Given the description of an element on the screen output the (x, y) to click on. 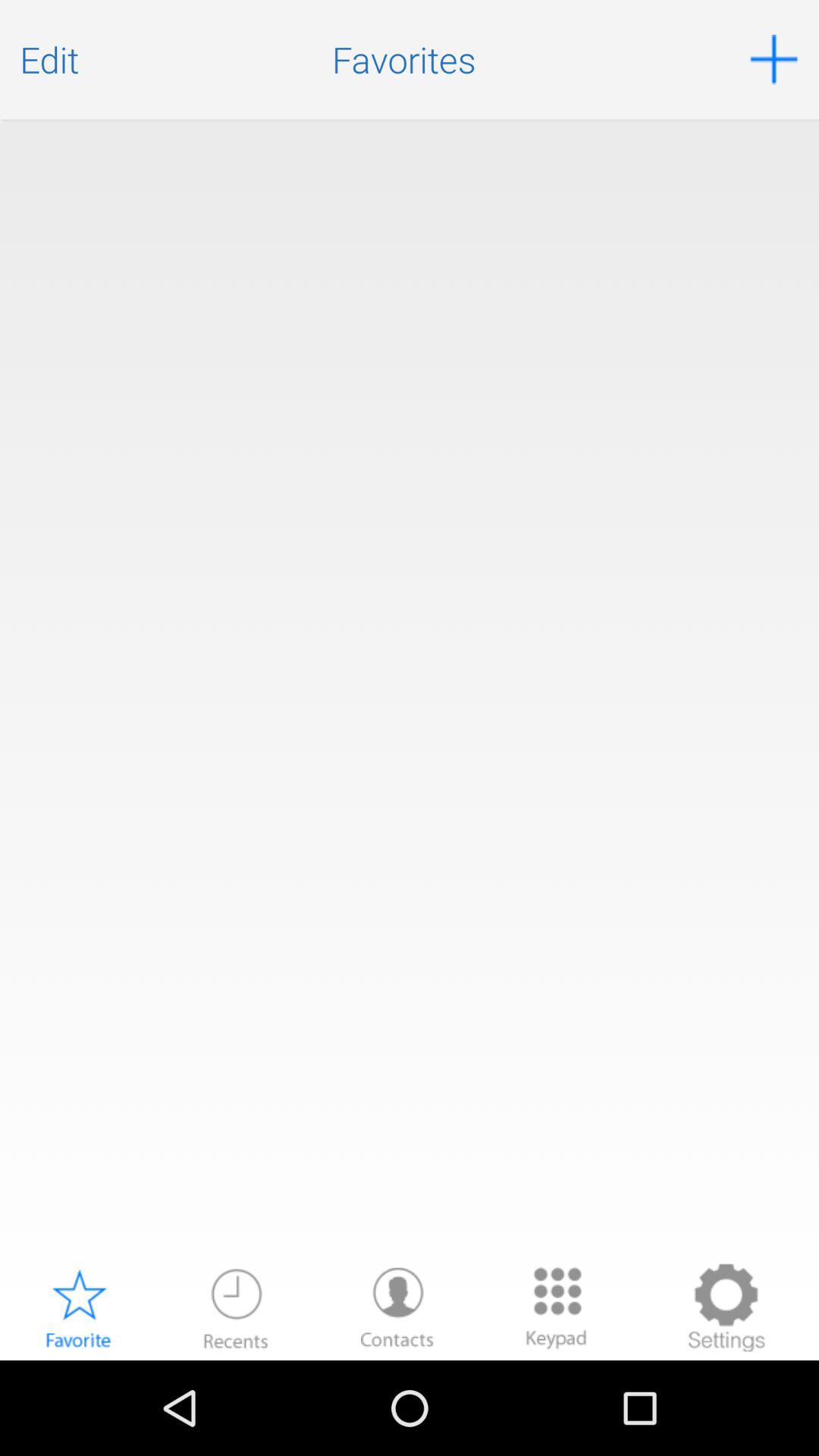
press the app at the top left corner (49, 59)
